Given the description of an element on the screen output the (x, y) to click on. 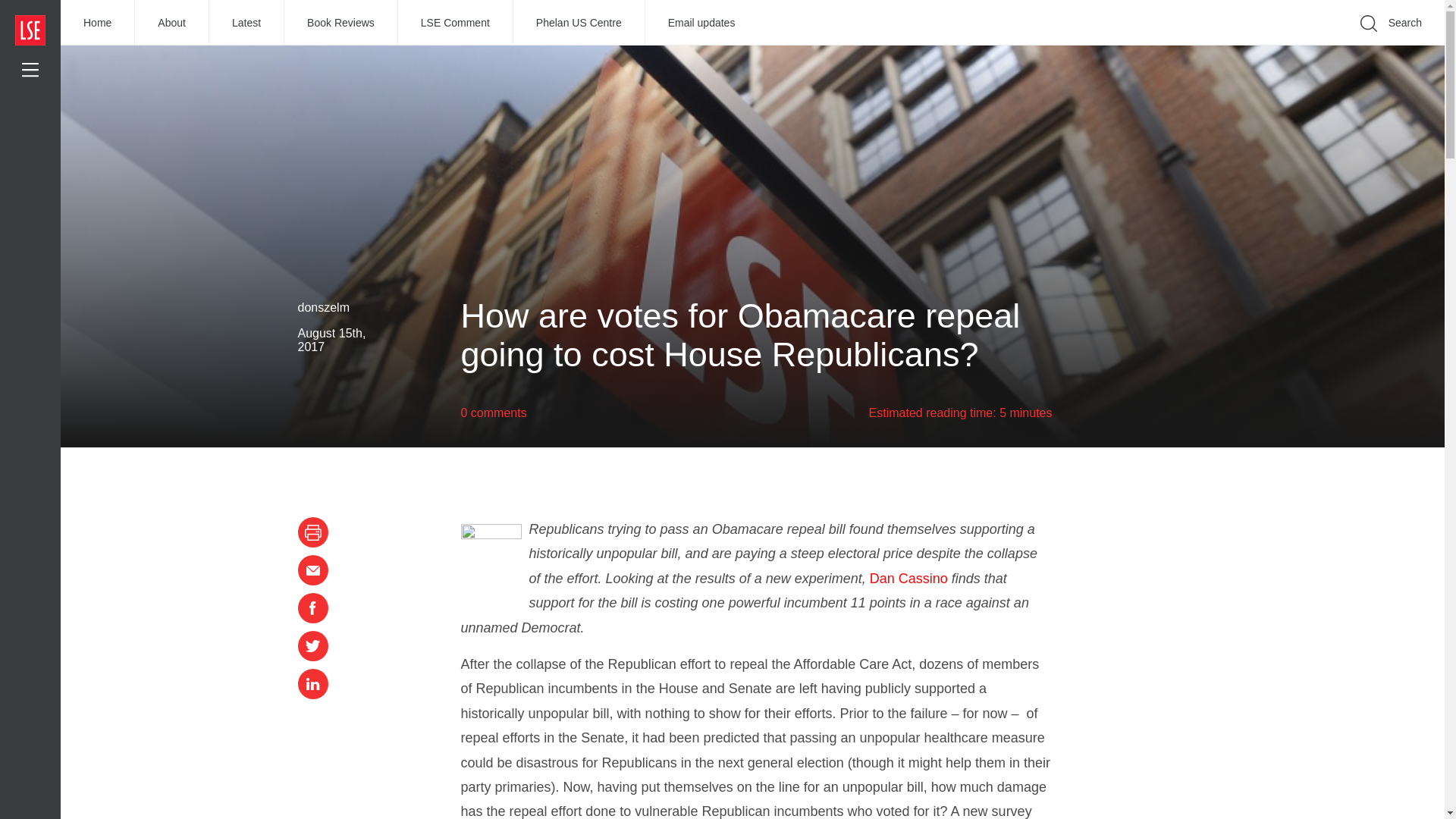
Email updates (701, 22)
Home (98, 22)
0 comments (494, 412)
LSE Comment (455, 22)
Go (1190, 44)
About (172, 22)
Latest (246, 22)
Book Reviews (340, 22)
Dan Cassino (908, 578)
Phelan US Centre (579, 22)
